Given the description of an element on the screen output the (x, y) to click on. 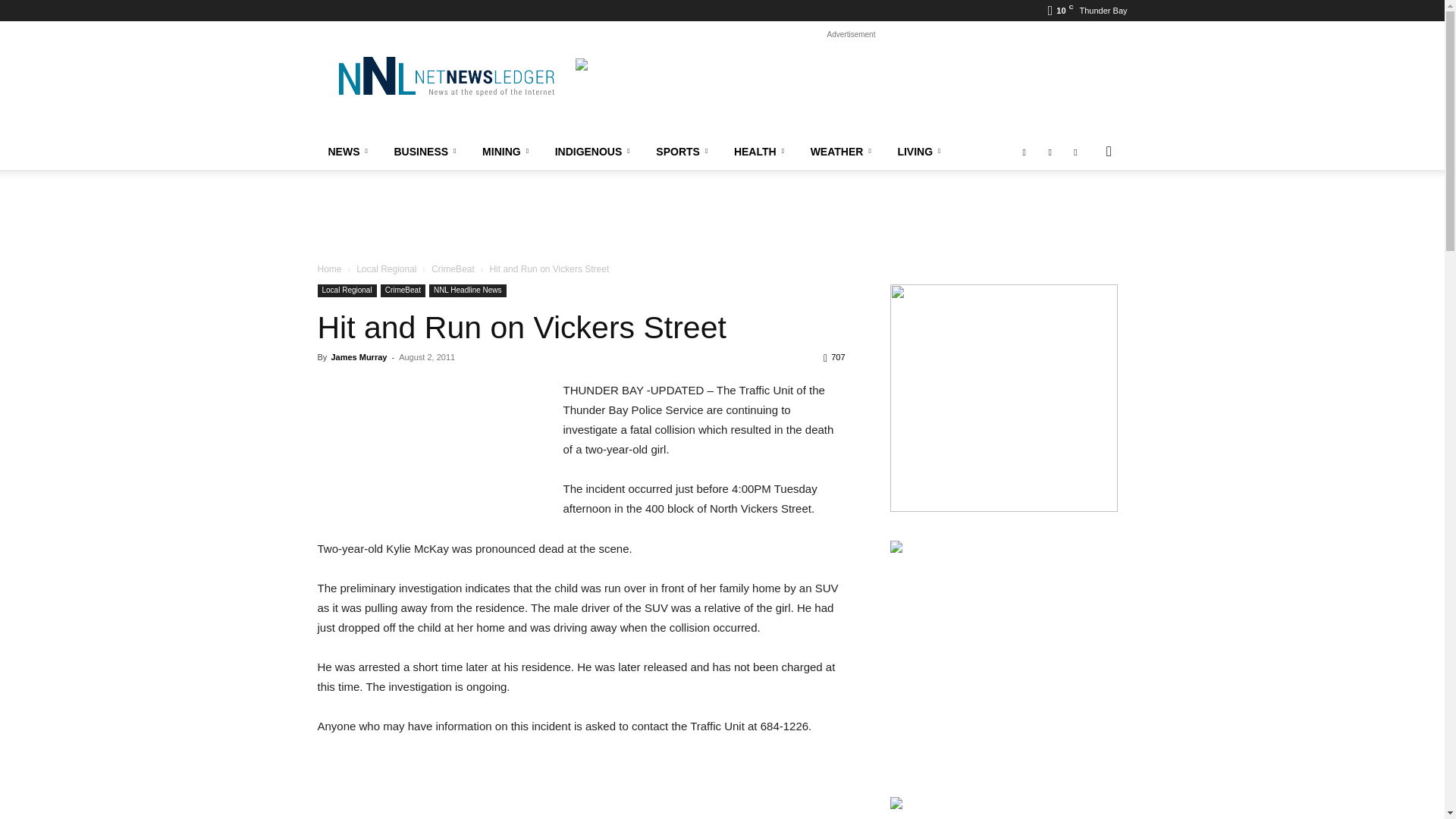
View all posts in CrimeBeat (452, 268)
North Star Air (850, 92)
NetNewsLedger (445, 76)
View all posts in Local Regional (386, 268)
